Given the description of an element on the screen output the (x, y) to click on. 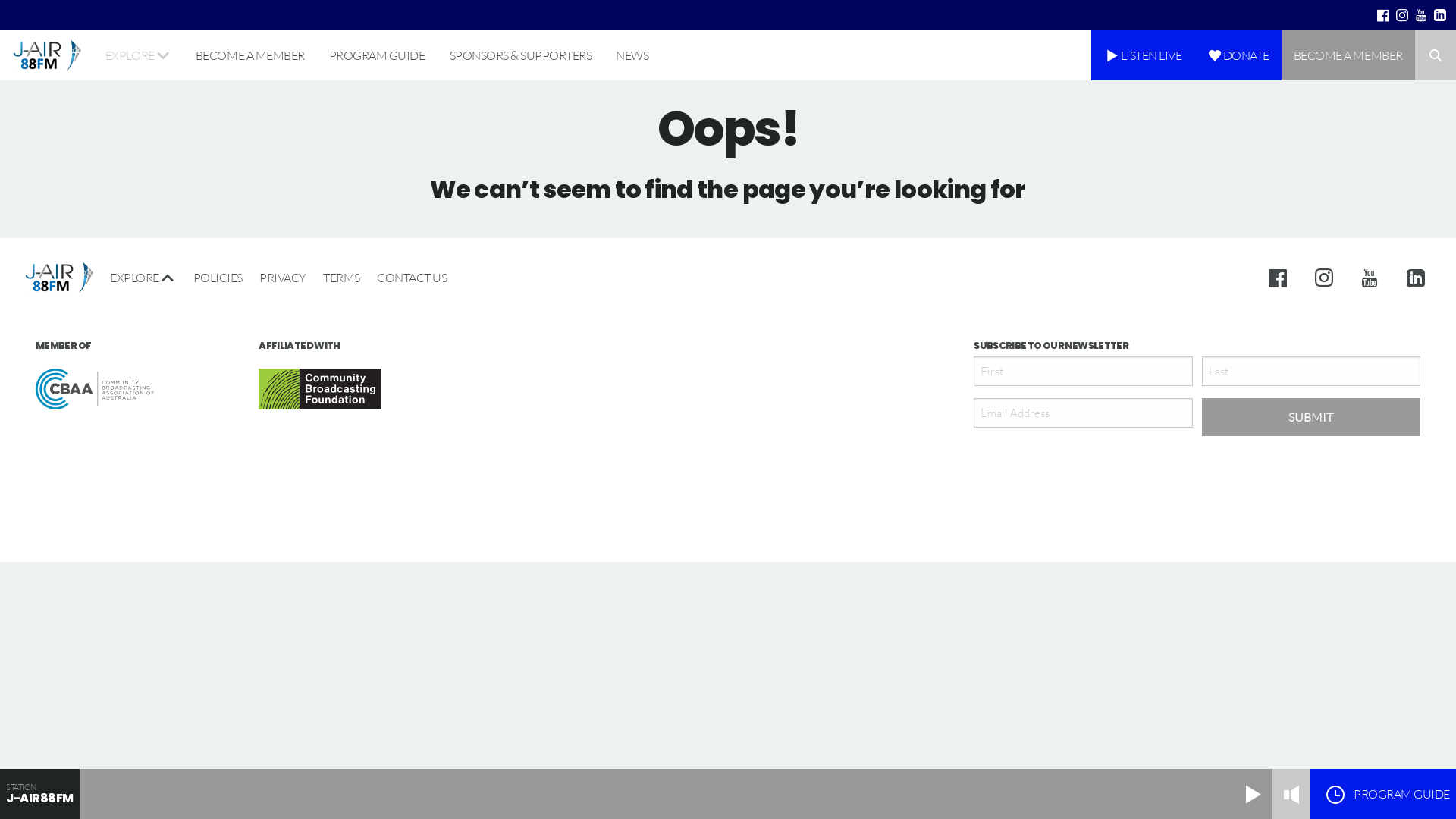
Submit Element type: text (1310, 417)
TERMS Element type: text (341, 277)
PROGRAM GUIDE Element type: text (376, 55)
  Element type: text (1283, 277)
CONTACT US Element type: text (407, 277)
BECOME A MEMBER Element type: text (249, 55)
  Element type: text (1371, 277)
PRIVACY Element type: text (282, 277)
  Element type: text (1439, 14)
  Element type: text (1412, 277)
BECOME A MEMBER Element type: text (1348, 55)
  Element type: text (1402, 14)
NEWS Element type: text (631, 55)
DONATE Element type: text (1237, 55)
EXPLORE Element type: text (138, 55)
  Element type: text (1421, 14)
POLICIES Element type: text (217, 277)
  Element type: text (1325, 277)
SPONSORS & SUPPORTERS Element type: text (519, 55)
LISTEN LIVE Element type: text (1142, 55)
EXPLORE Element type: text (142, 277)
  Element type: text (1383, 14)
